Given the description of an element on the screen output the (x, y) to click on. 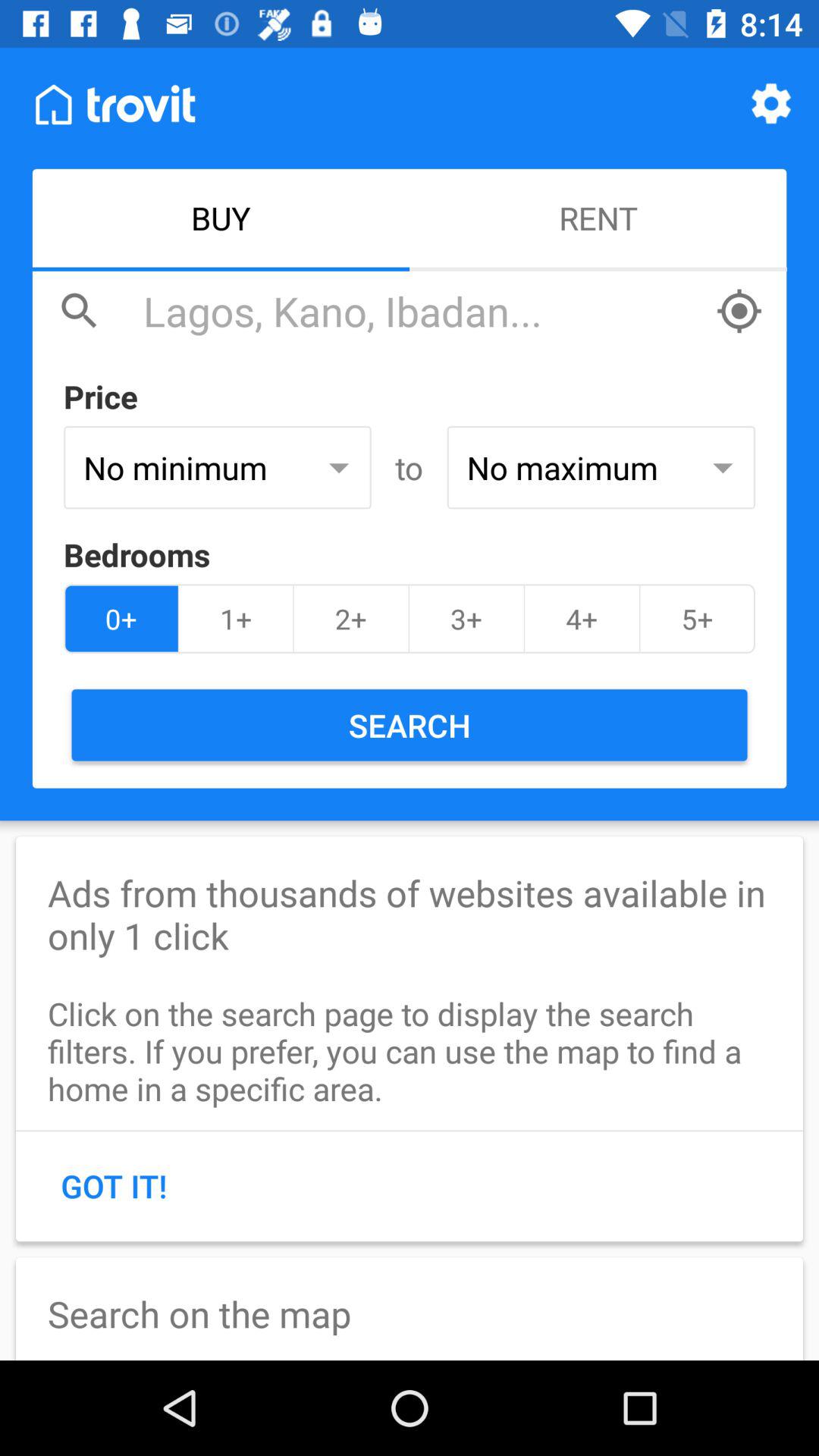
open icon to the right of 2+ (466, 618)
